Given the description of an element on the screen output the (x, y) to click on. 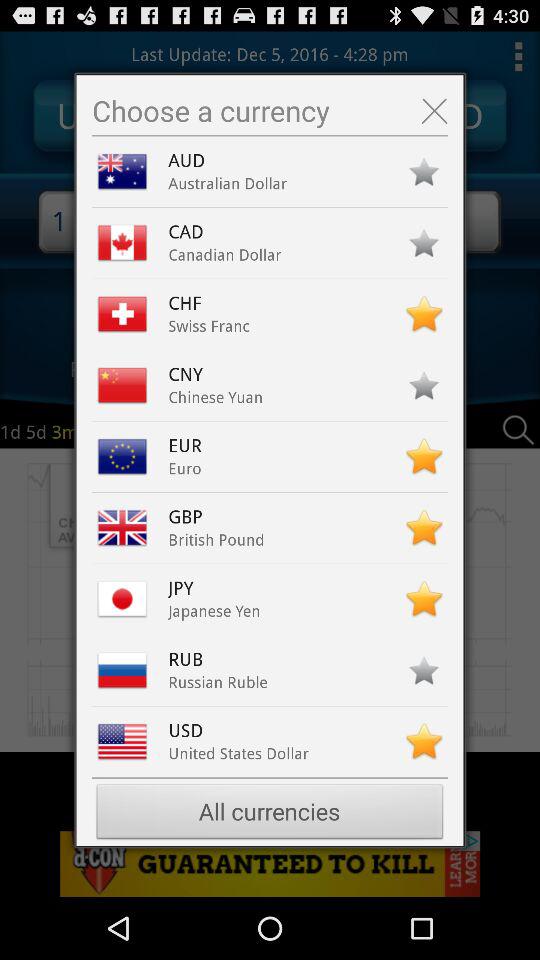
jump until jpy icon (189, 588)
